Given the description of an element on the screen output the (x, y) to click on. 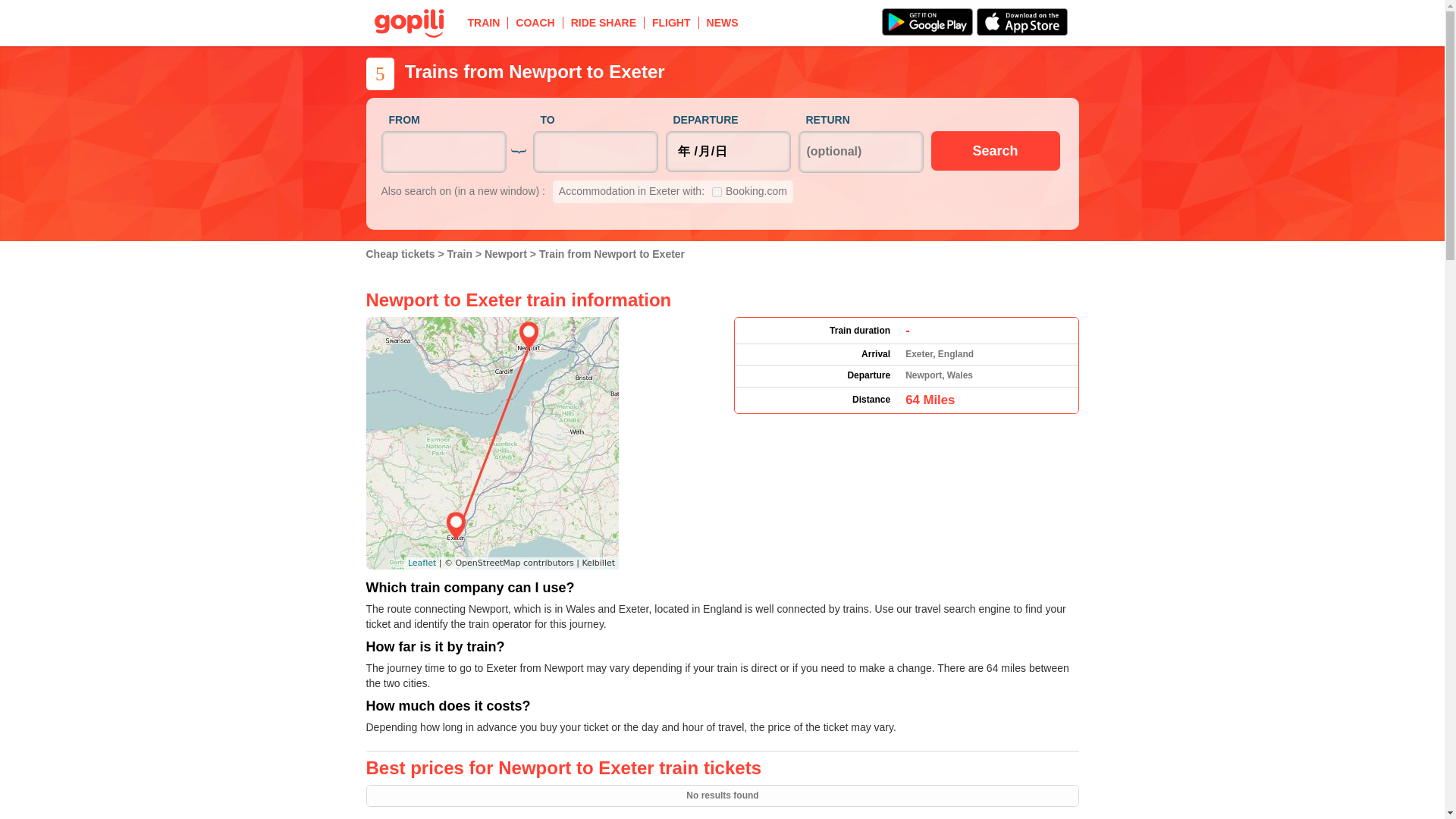
Search (995, 150)
RIDE SHARE (604, 22)
Cheap tickets (401, 254)
Train from Newport to Exeter (611, 254)
FLIGHT (671, 22)
TRAIN (484, 22)
Train (461, 254)
NEWS (721, 22)
135 (716, 192)
COACH (535, 22)
Newport (506, 254)
